Given the description of an element on the screen output the (x, y) to click on. 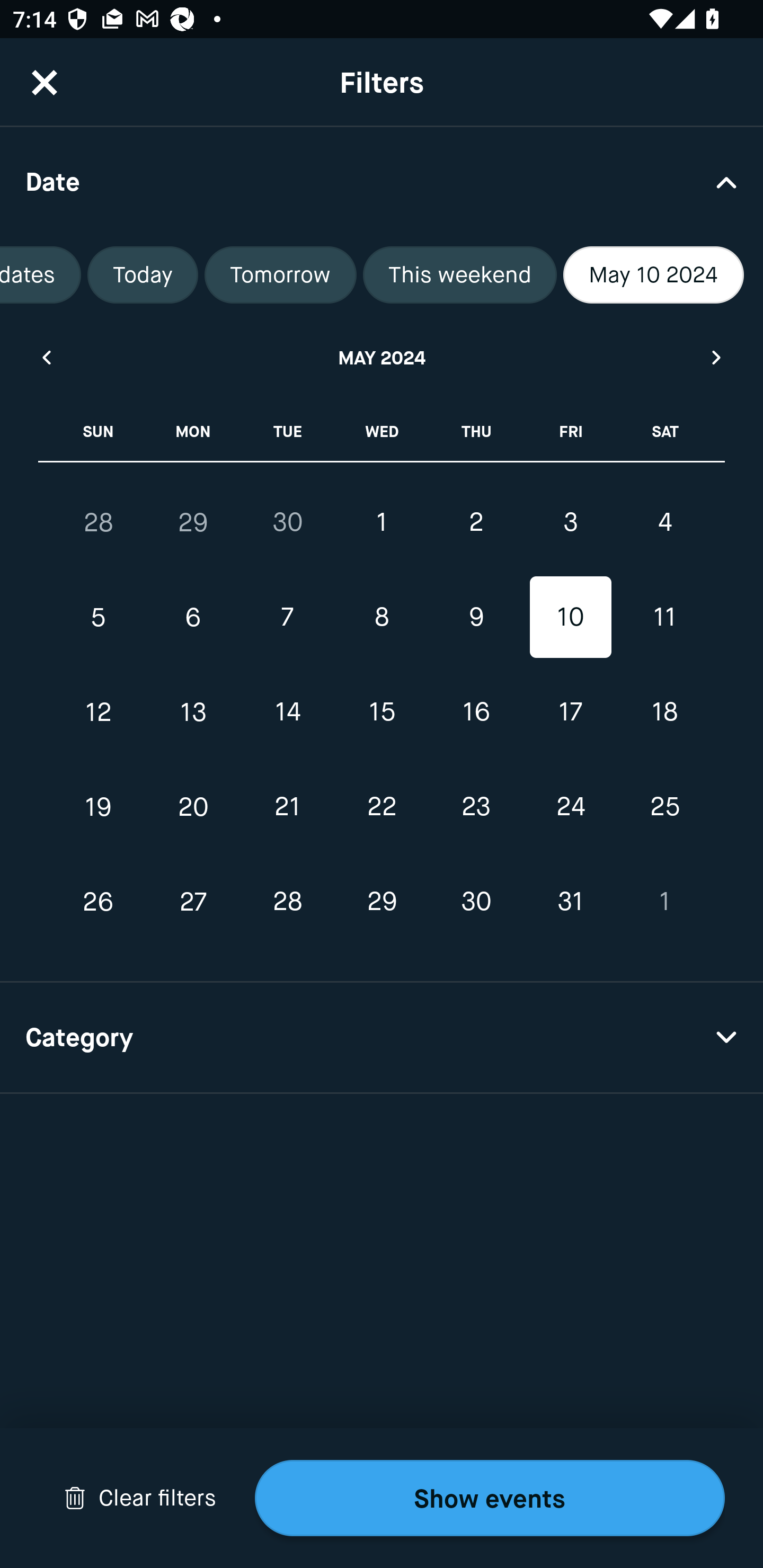
CloseButton (44, 82)
Date Drop Down Arrow (381, 181)
All dates (40, 274)
Today (142, 274)
Tomorrow (280, 274)
This weekend (459, 274)
May 10 2024 (653, 274)
Previous (45, 357)
Next (717, 357)
28 (98, 522)
29 (192, 522)
30 (287, 522)
1 (381, 522)
2 (475, 522)
3 (570, 522)
4 (664, 522)
5 (98, 617)
6 (192, 617)
7 (287, 617)
8 (381, 617)
9 (475, 617)
10 (570, 617)
11 (664, 617)
12 (98, 711)
13 (192, 711)
14 (287, 711)
15 (381, 711)
16 (475, 711)
17 (570, 711)
18 (664, 711)
19 (98, 806)
20 (192, 806)
21 (287, 806)
22 (381, 806)
23 (475, 806)
24 (570, 806)
25 (664, 806)
26 (98, 901)
27 (192, 901)
28 (287, 901)
29 (381, 901)
30 (475, 901)
31 (570, 901)
1 (664, 901)
Category Drop Down Arrow (381, 1038)
Drop Down Arrow Clear filters (139, 1497)
Show events (489, 1497)
